Given the description of an element on the screen output the (x, y) to click on. 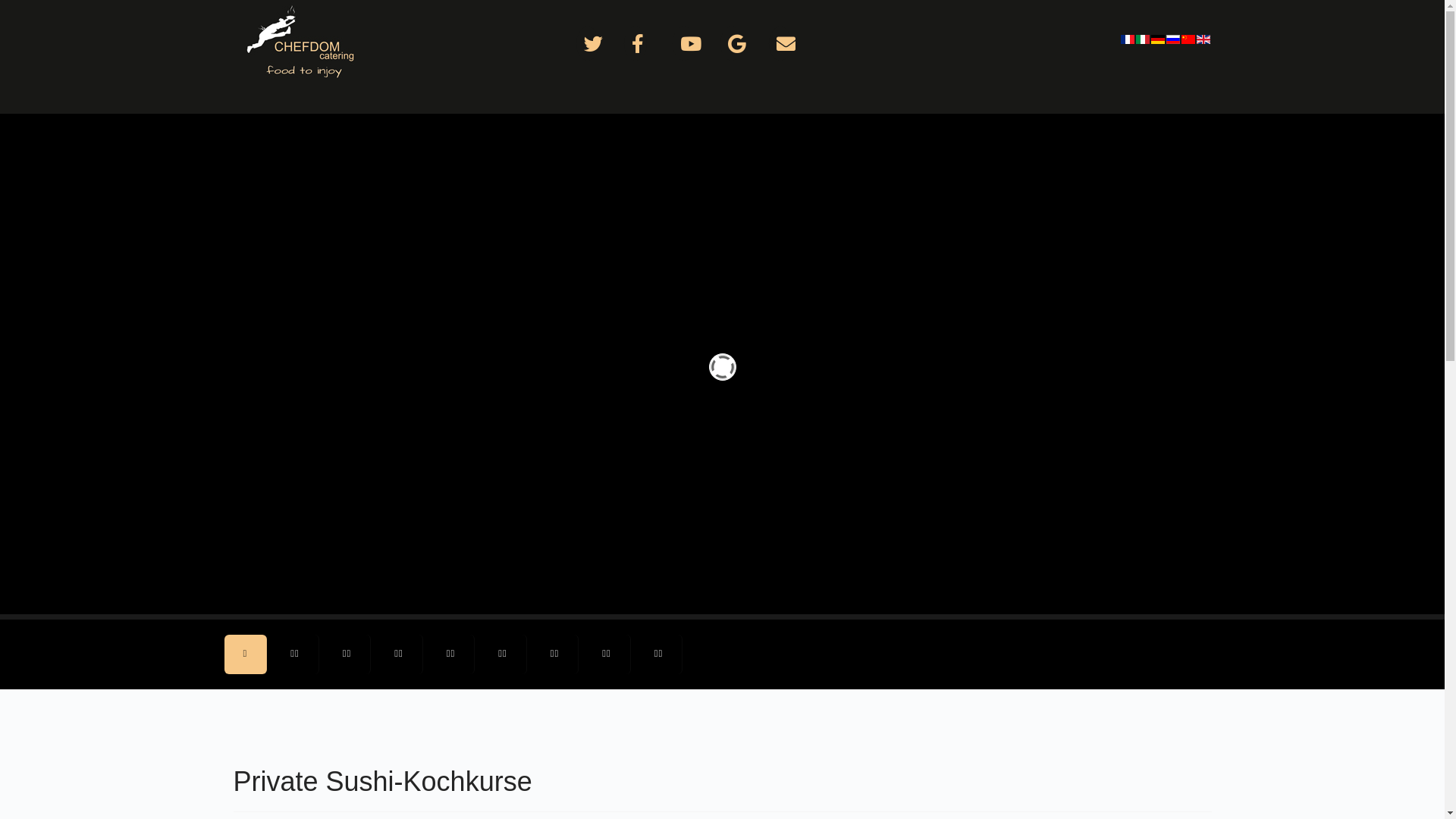
English (UK) - Home Element type: hover (1203, 39)
Italiano - Home Element type: hover (1143, 39)
Deutsch - Home Element type: hover (1158, 39)
Francais - Accueil Element type: hover (1127, 39)
